Given the description of an element on the screen output the (x, y) to click on. 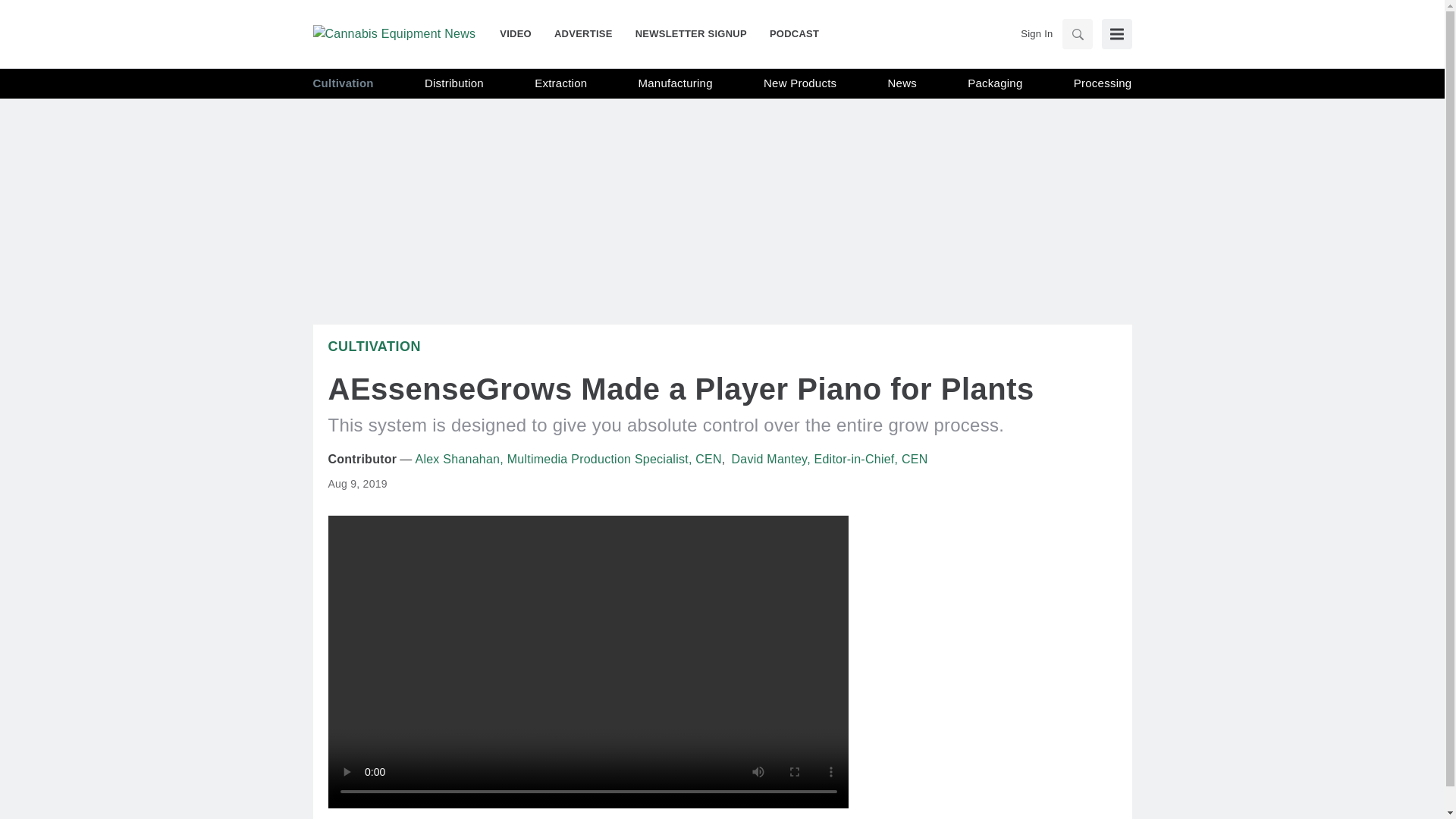
Cultivation (342, 83)
Sign In (1036, 33)
PODCAST (788, 33)
Extraction (560, 83)
VIDEO (521, 33)
Distribution (454, 83)
Cultivation (373, 346)
Manufacturing (676, 83)
News (902, 83)
Packaging (995, 83)
New Products (798, 83)
ADVERTISE (583, 33)
Processing (1103, 83)
NEWSLETTER SIGNUP (691, 33)
